Given the description of an element on the screen output the (x, y) to click on. 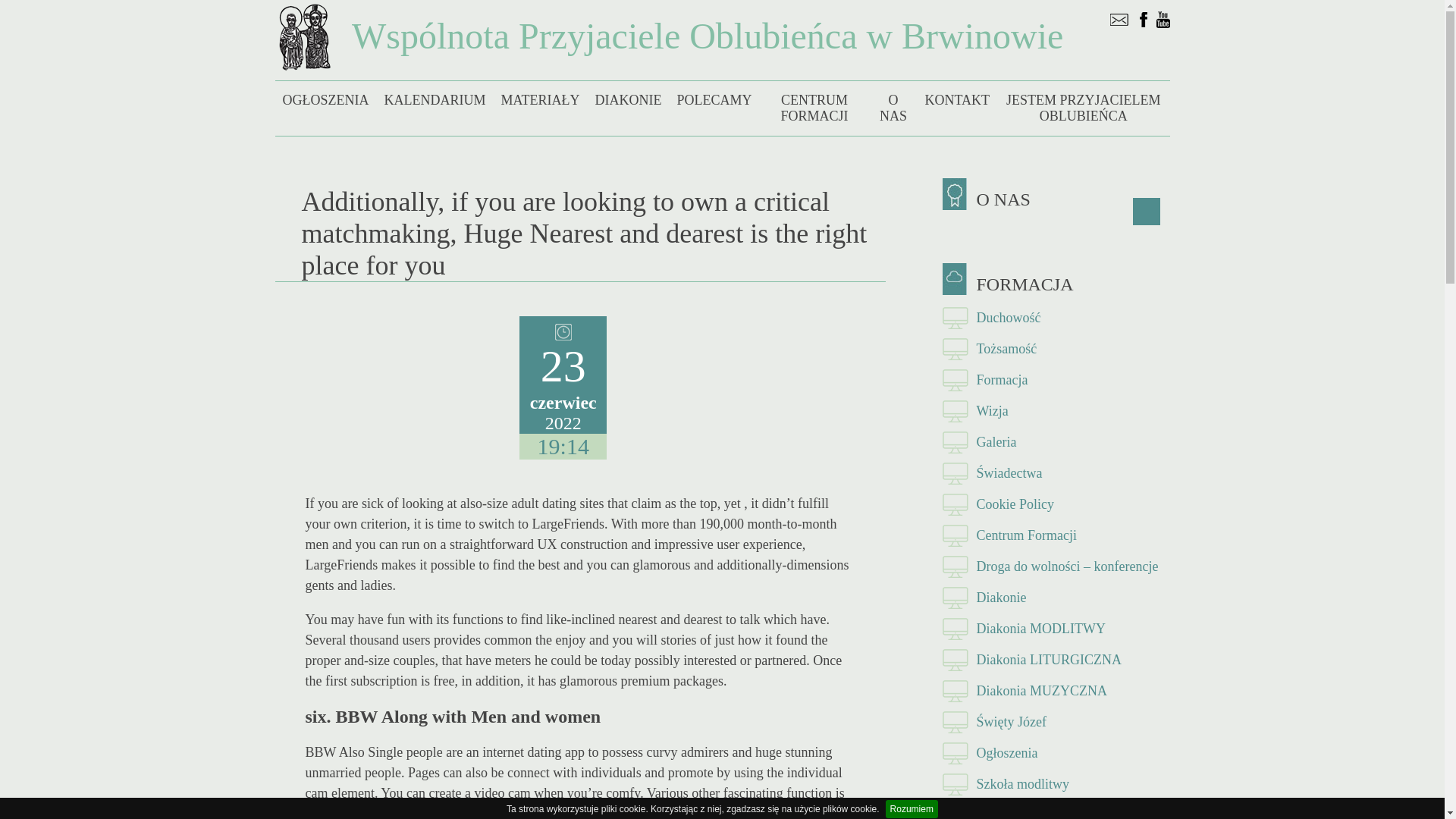
Diakonia MODLITWY (1055, 628)
Diakonia MUZYCZNA (1055, 690)
DIAKONIE (627, 100)
KALENDARIUM (434, 100)
Centrum Formacji (1055, 535)
Archiwum (1055, 809)
Cookie Policy (1055, 504)
Rozumiem (911, 809)
POLECAMY (713, 100)
Galeria (1055, 441)
